Given the description of an element on the screen output the (x, y) to click on. 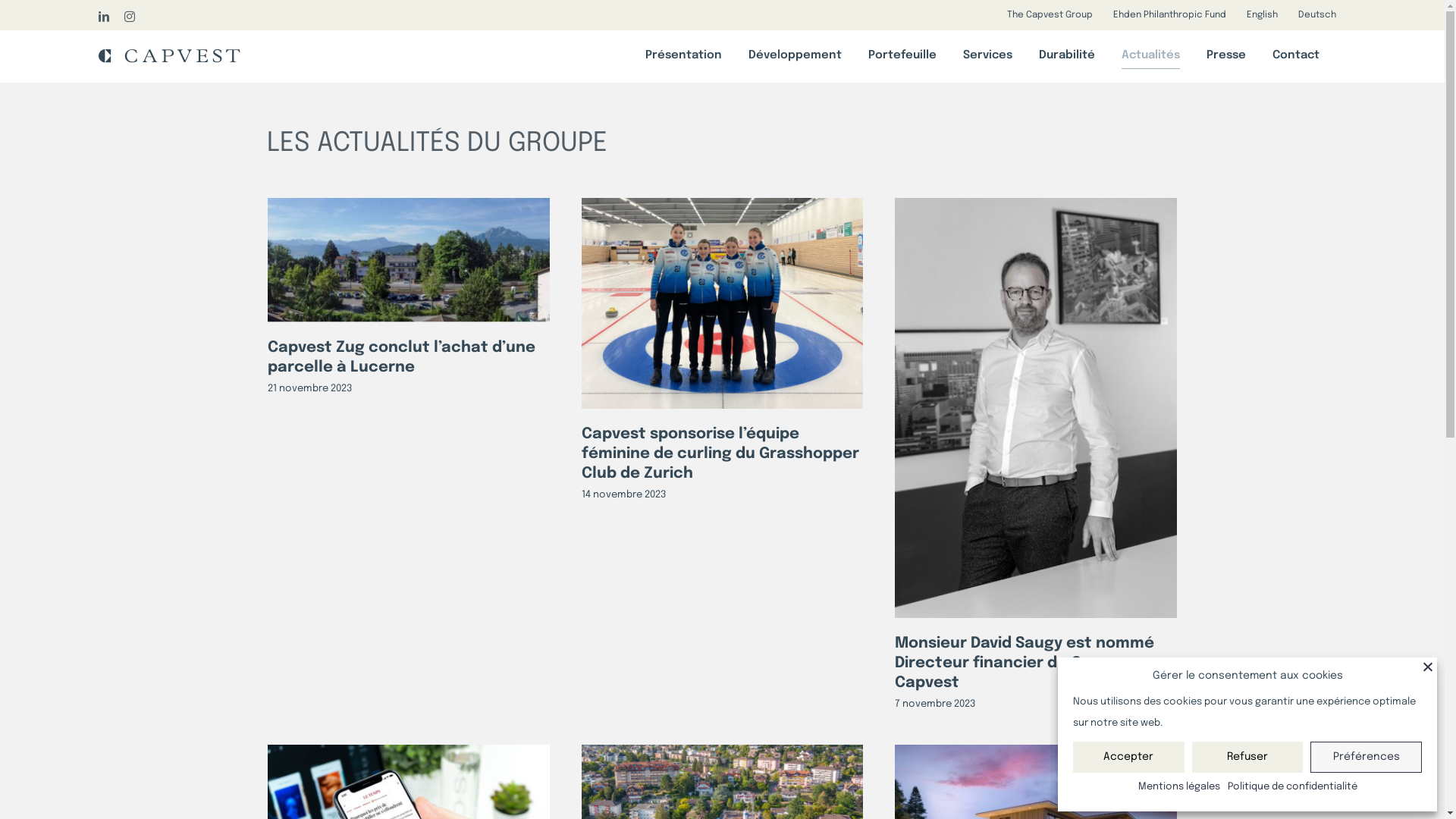
Deutsch Element type: text (1317, 14)
Presse Element type: text (1225, 55)
LinkedIn Element type: text (103, 16)
The Capvest Group Element type: text (1049, 14)
Ehden Philanthropic Fund Element type: text (1169, 14)
Services Element type: text (987, 55)
Portefeuille Element type: text (902, 55)
Instagram Element type: text (129, 16)
English Element type: text (1261, 14)
Contact Element type: text (1295, 55)
